Given the description of an element on the screen output the (x, y) to click on. 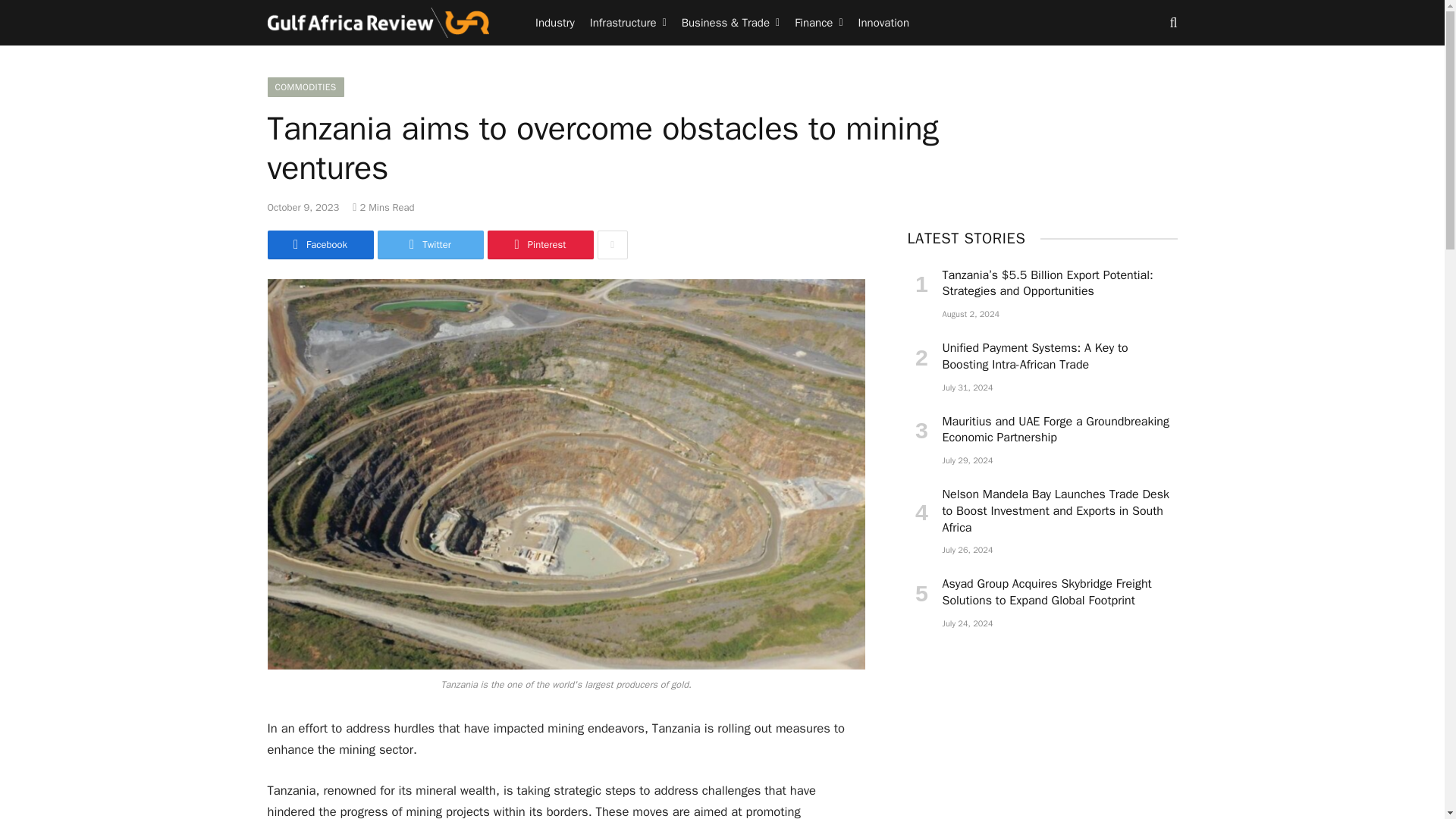
Infrastructure (628, 22)
Gulf Africa Review (377, 22)
Industry (554, 22)
